Given the description of an element on the screen output the (x, y) to click on. 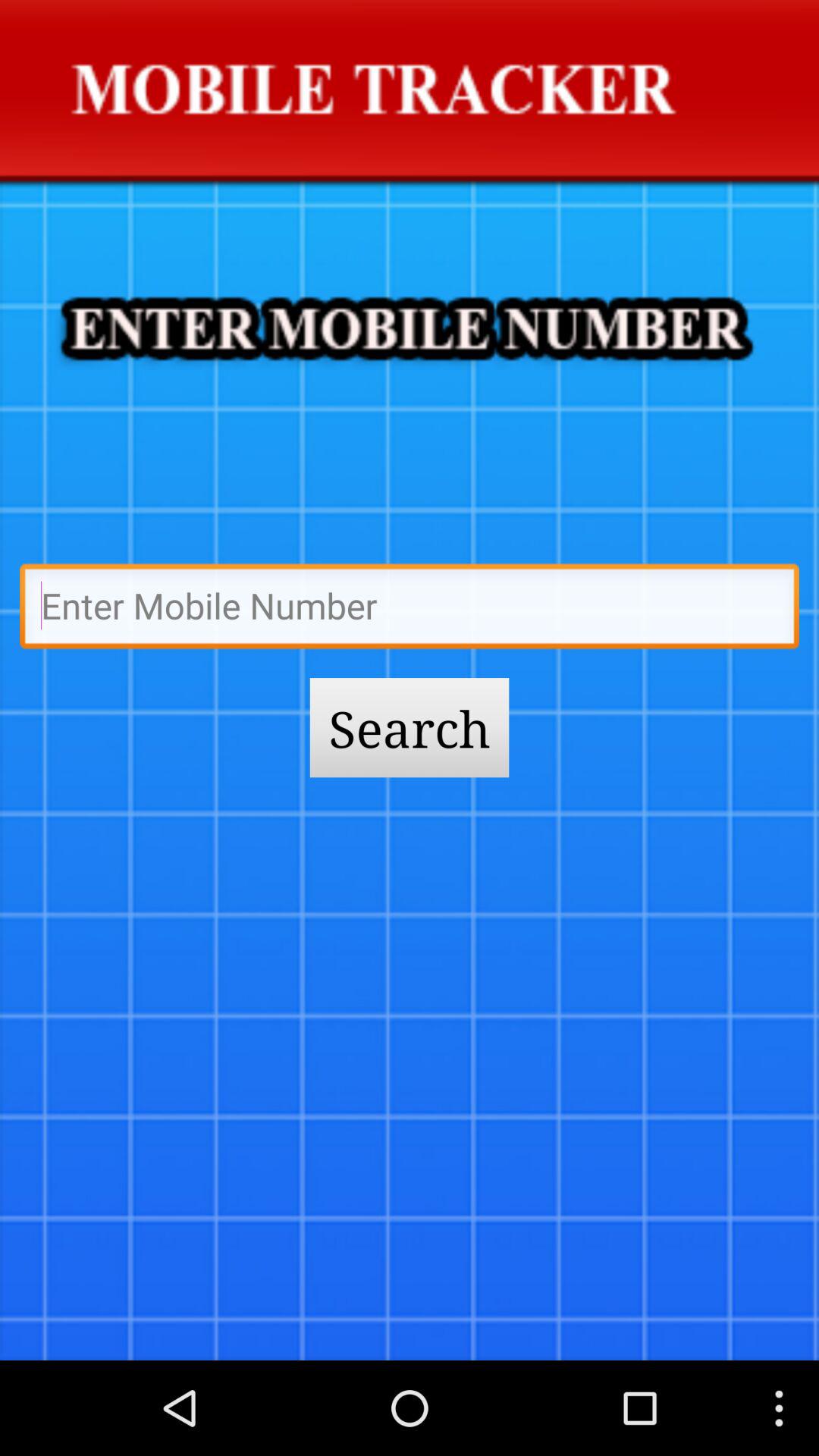
trackering to be mobile is given (409, 610)
